Given the description of an element on the screen output the (x, y) to click on. 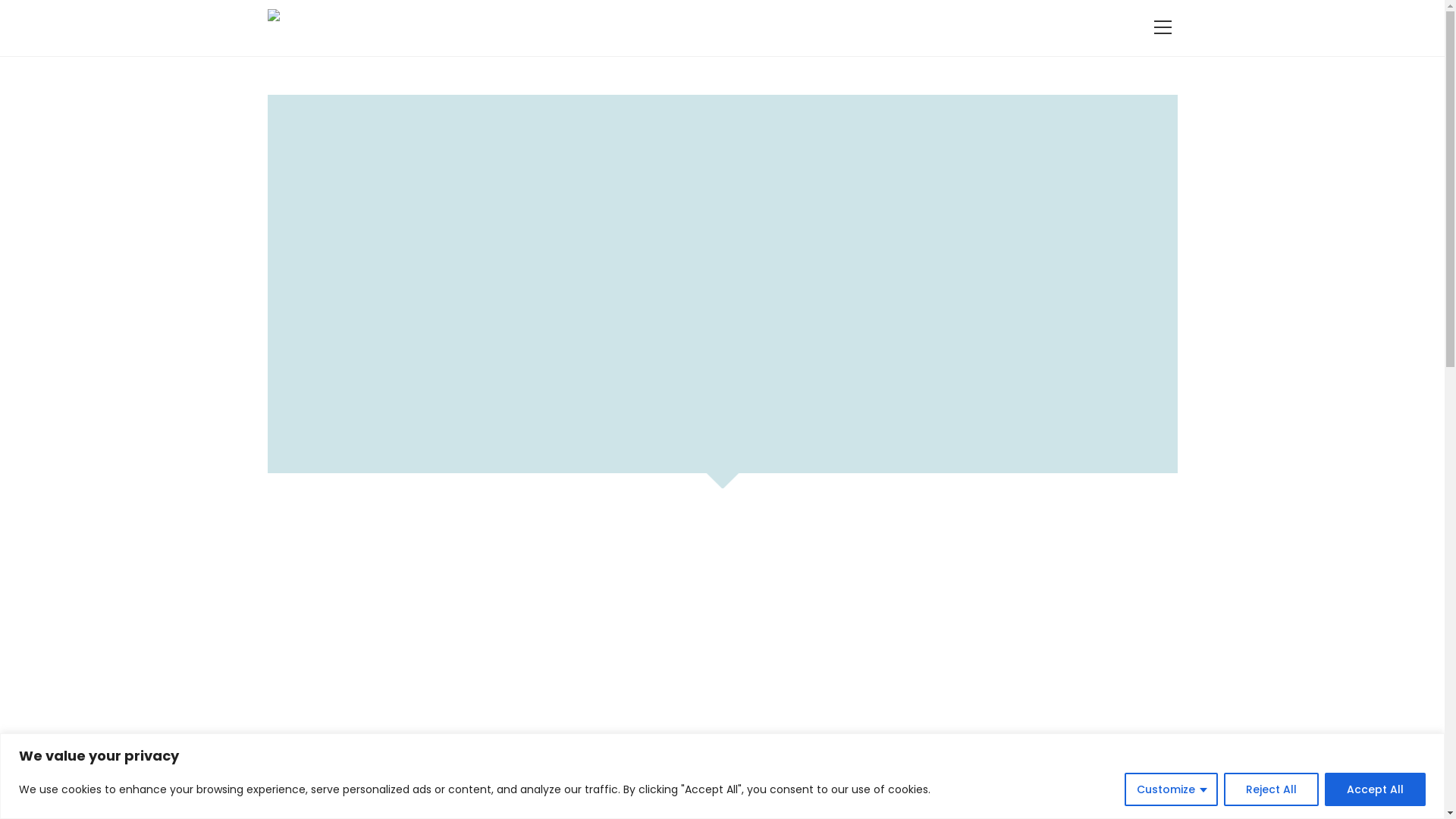
Accept All Element type: text (1374, 788)
Customize Element type: text (1170, 788)
Reject All Element type: text (1270, 788)
